Given the description of an element on the screen output the (x, y) to click on. 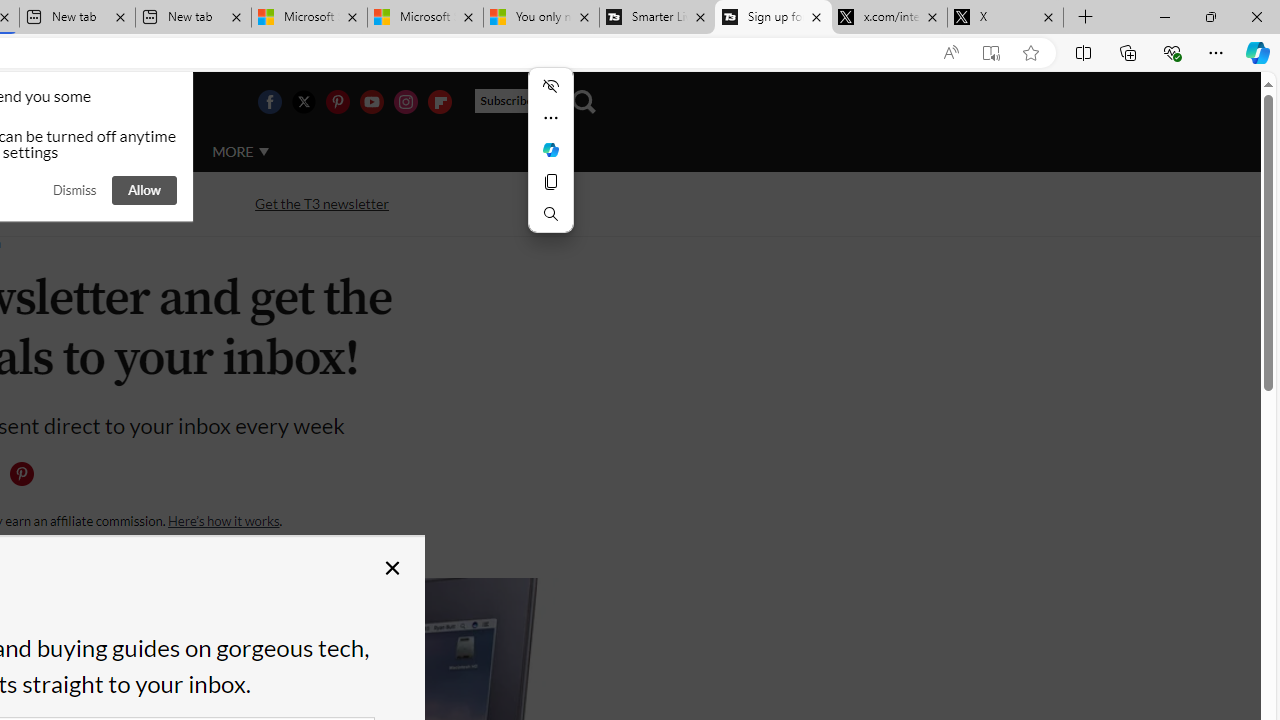
Class: social__item (25, 477)
Visit us on Facebook (269, 101)
Copy (550, 182)
Class: icon-svg (21, 474)
